Given the description of an element on the screen output the (x, y) to click on. 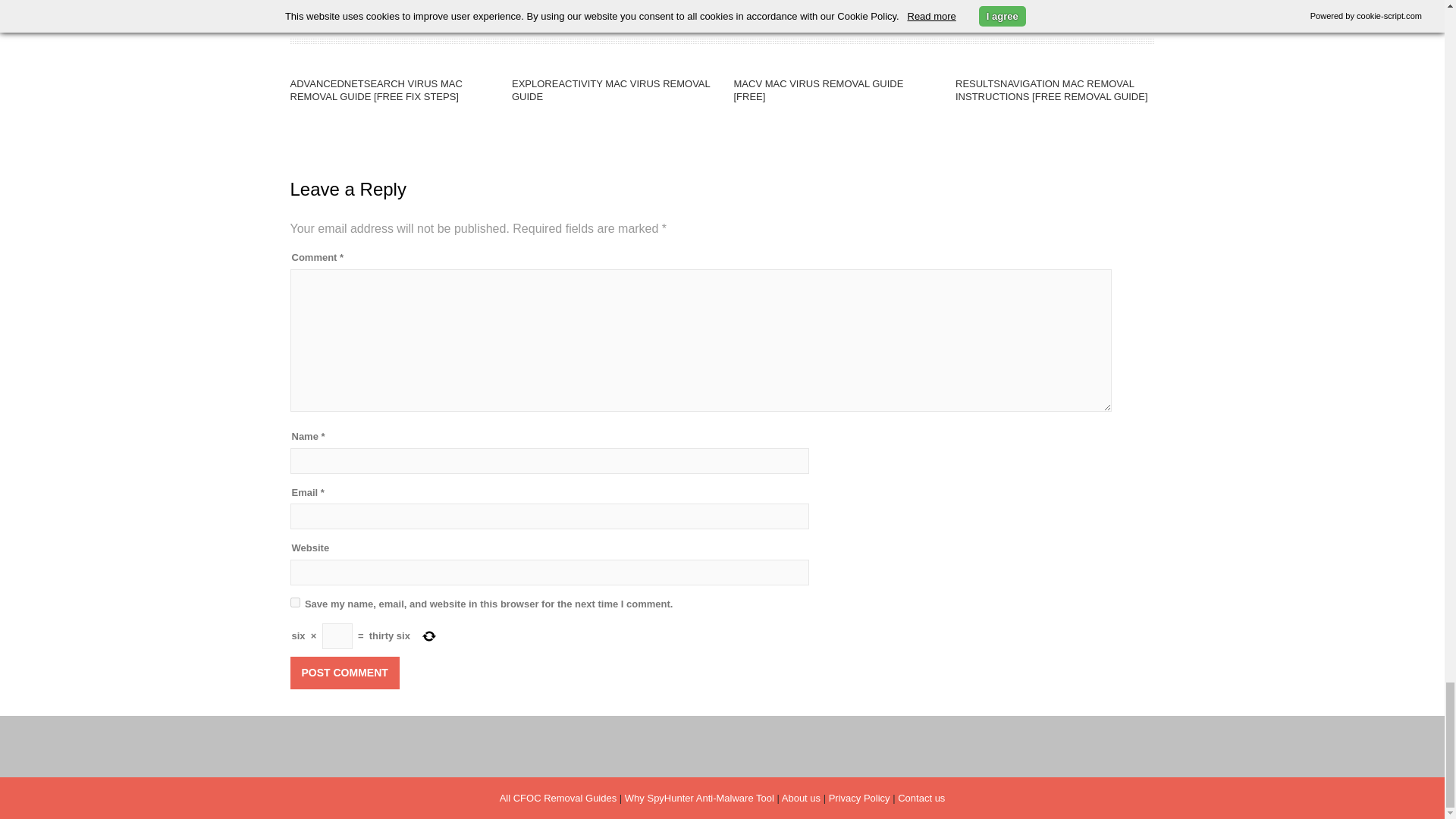
EXPLOREACTIVITY MAC VIRUS REMOVAL GUIDE (611, 89)
Post Comment (343, 673)
Post Comment (343, 673)
All CFOC Removal Guides (558, 797)
yes (294, 602)
